Given the description of an element on the screen output the (x, y) to click on. 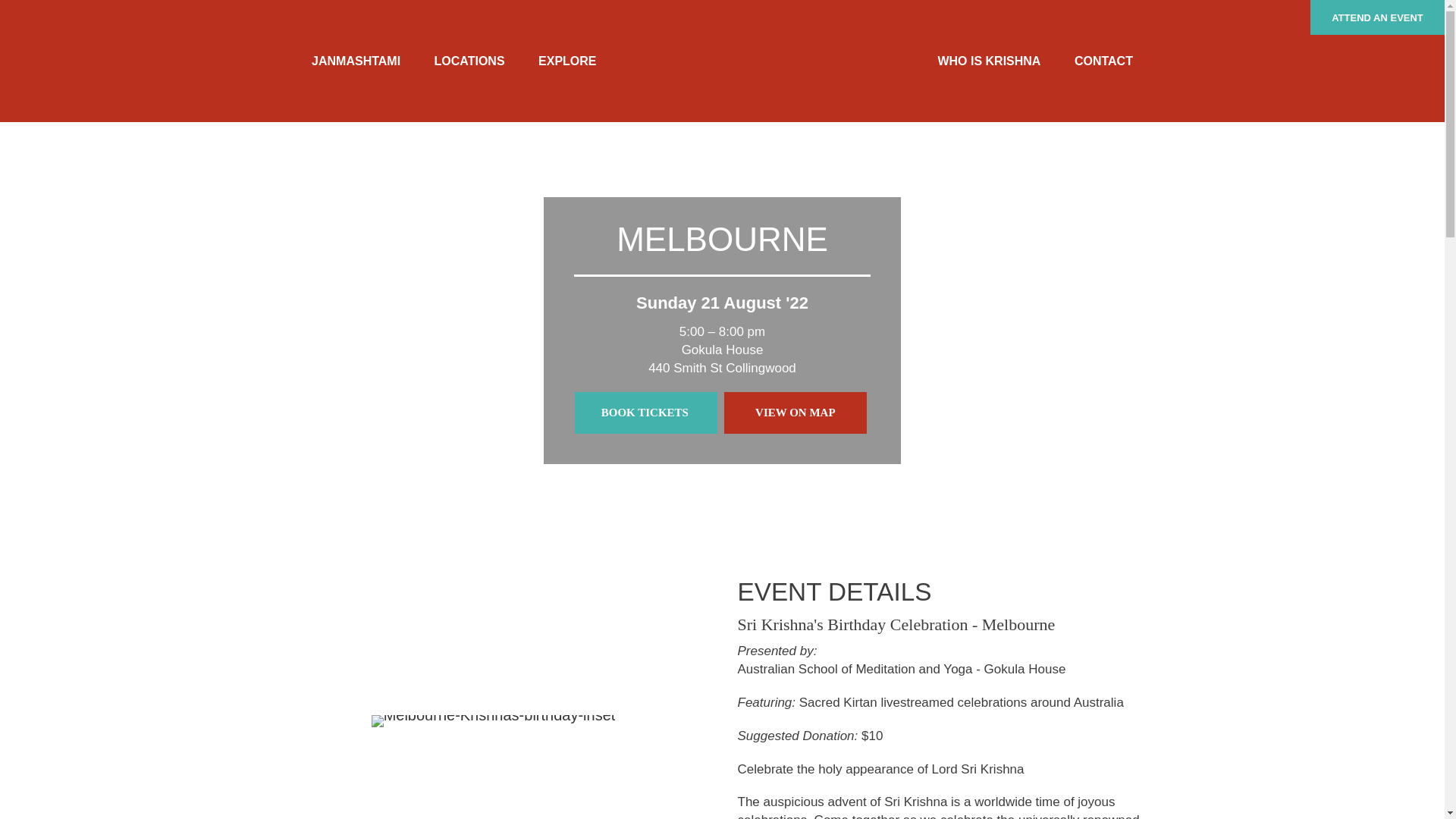
WHO IS KRISHNA (988, 60)
LOCATIONS (469, 60)
CONTACT (1103, 60)
Melbourne-Krishnas-birthday-inset (493, 720)
EXPLORE (566, 60)
JANMASHTAMI (355, 60)
BOOK TICKETS  (646, 413)
VIEW ON MAP (794, 413)
